Given the description of an element on the screen output the (x, y) to click on. 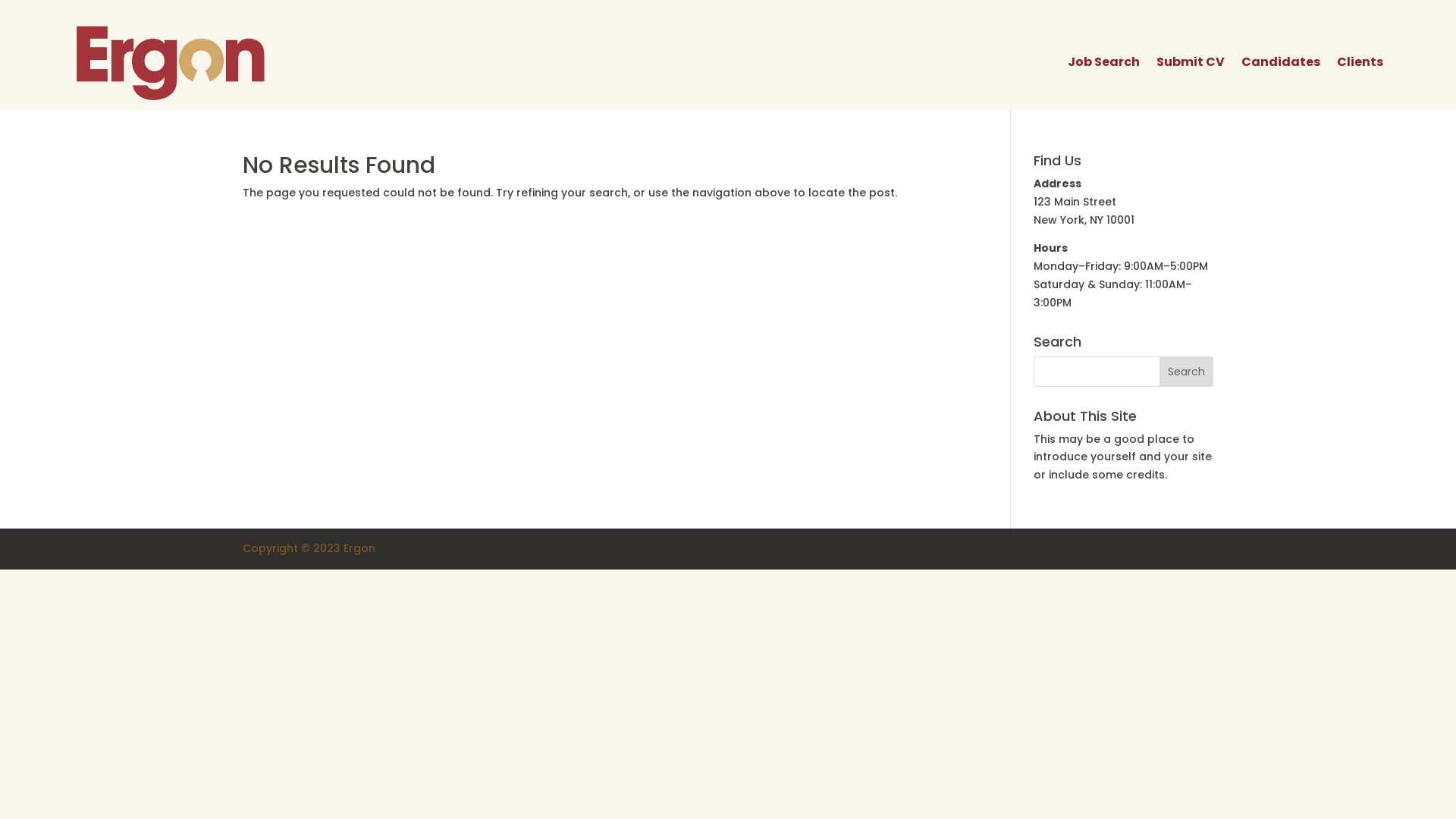
Job Search Element type: text (1103, 61)
Candidates Element type: text (1280, 61)
Clients Element type: text (1359, 61)
Search Element type: text (1186, 371)
Submit CV Element type: text (1190, 61)
